Given the description of an element on the screen output the (x, y) to click on. 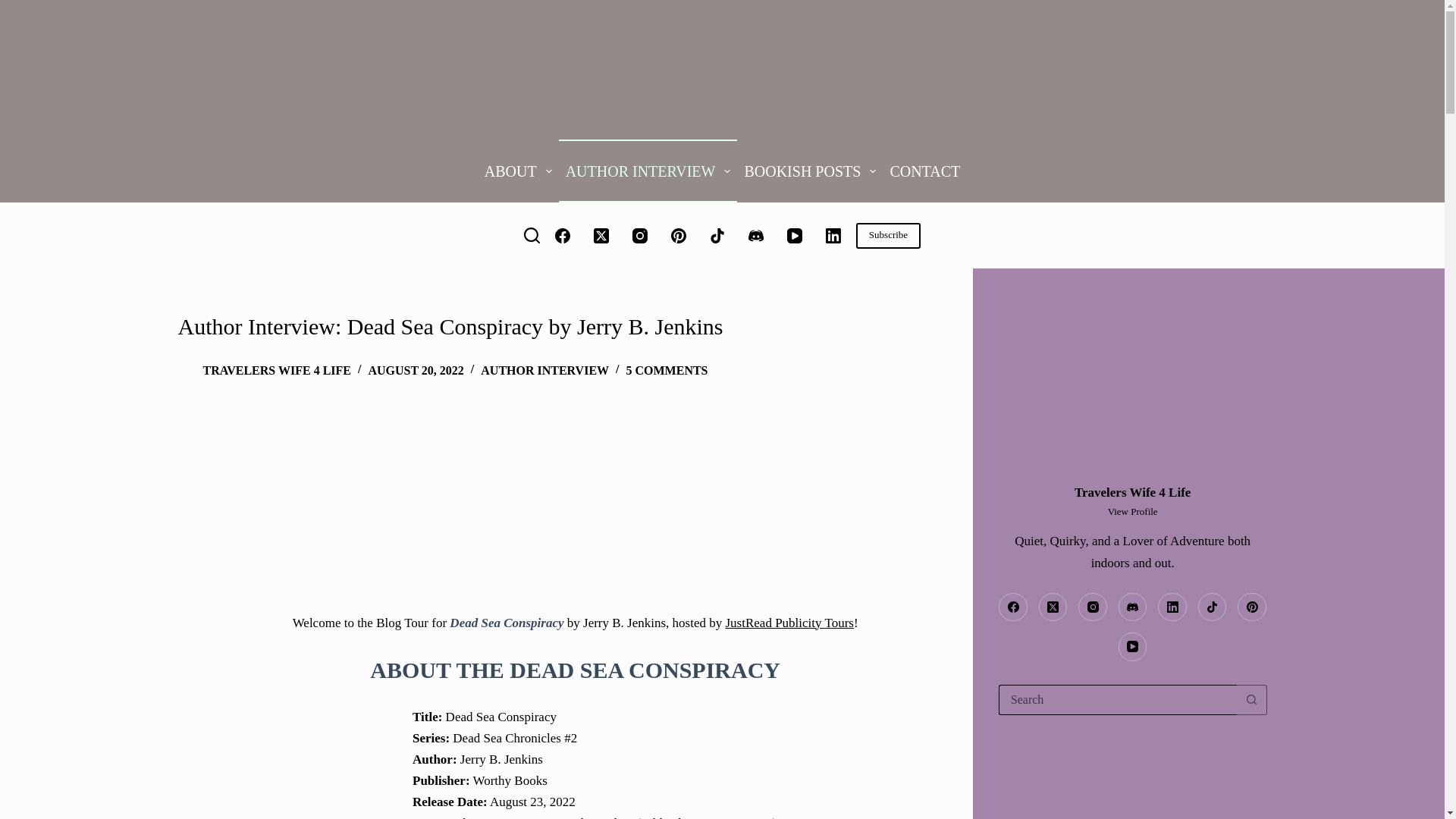
Skip to content (15, 7)
Posts by Travelers Wife 4 Life (276, 369)
AUTHOR INTERVIEW (648, 170)
ABOUT (518, 170)
BOOKISH POSTS (809, 170)
Search for... (1117, 699)
Author Interview: Dead Sea Conspiracy by Jerry B. Jenkins (574, 326)
Bookstagram ideas (1132, 778)
